Given the description of an element on the screen output the (x, y) to click on. 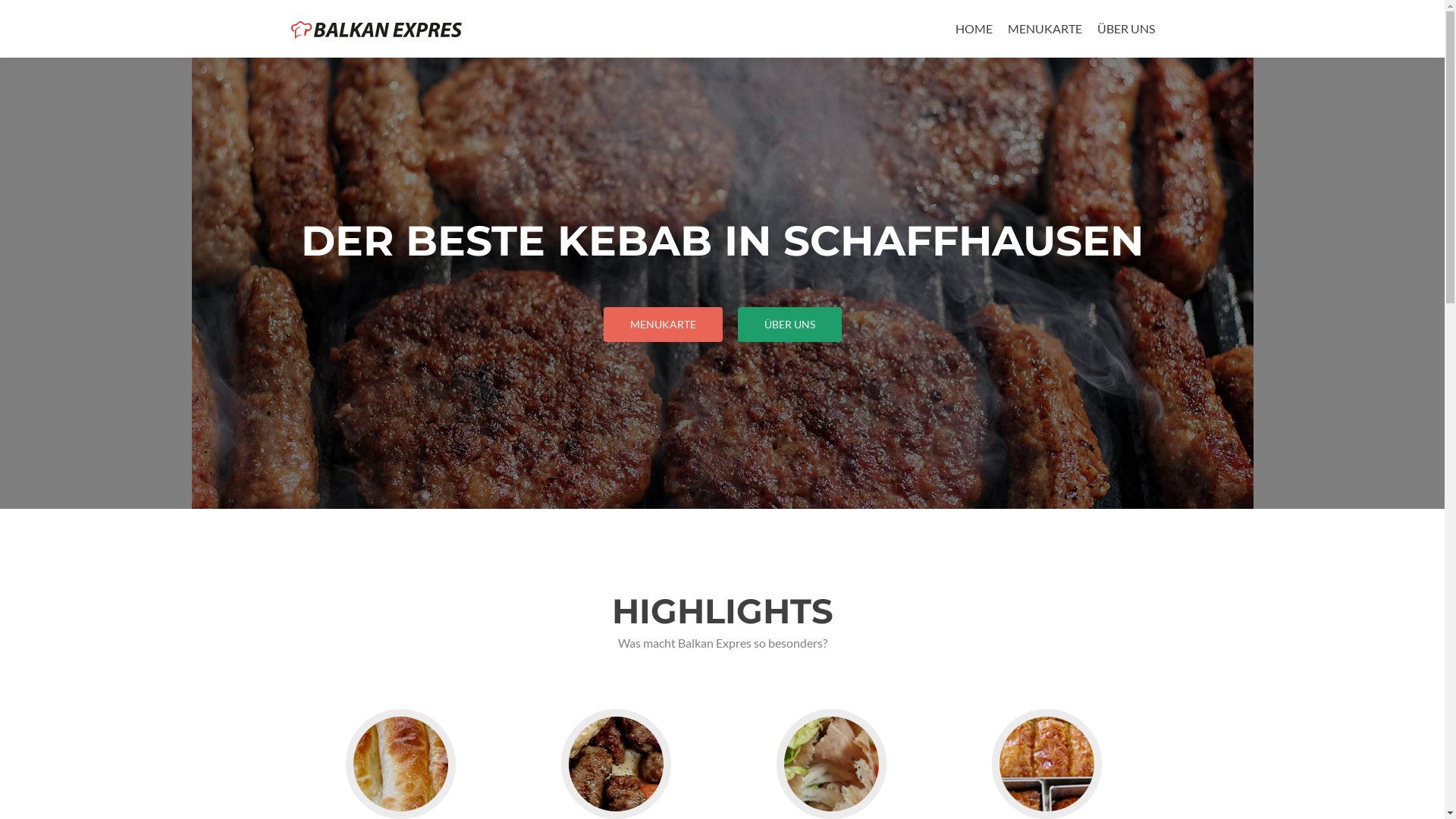
MENUKARTE Element type: text (662, 324)
HOME Element type: text (973, 28)
MENUKARTE Element type: text (1044, 28)
